Given the description of an element on the screen output the (x, y) to click on. 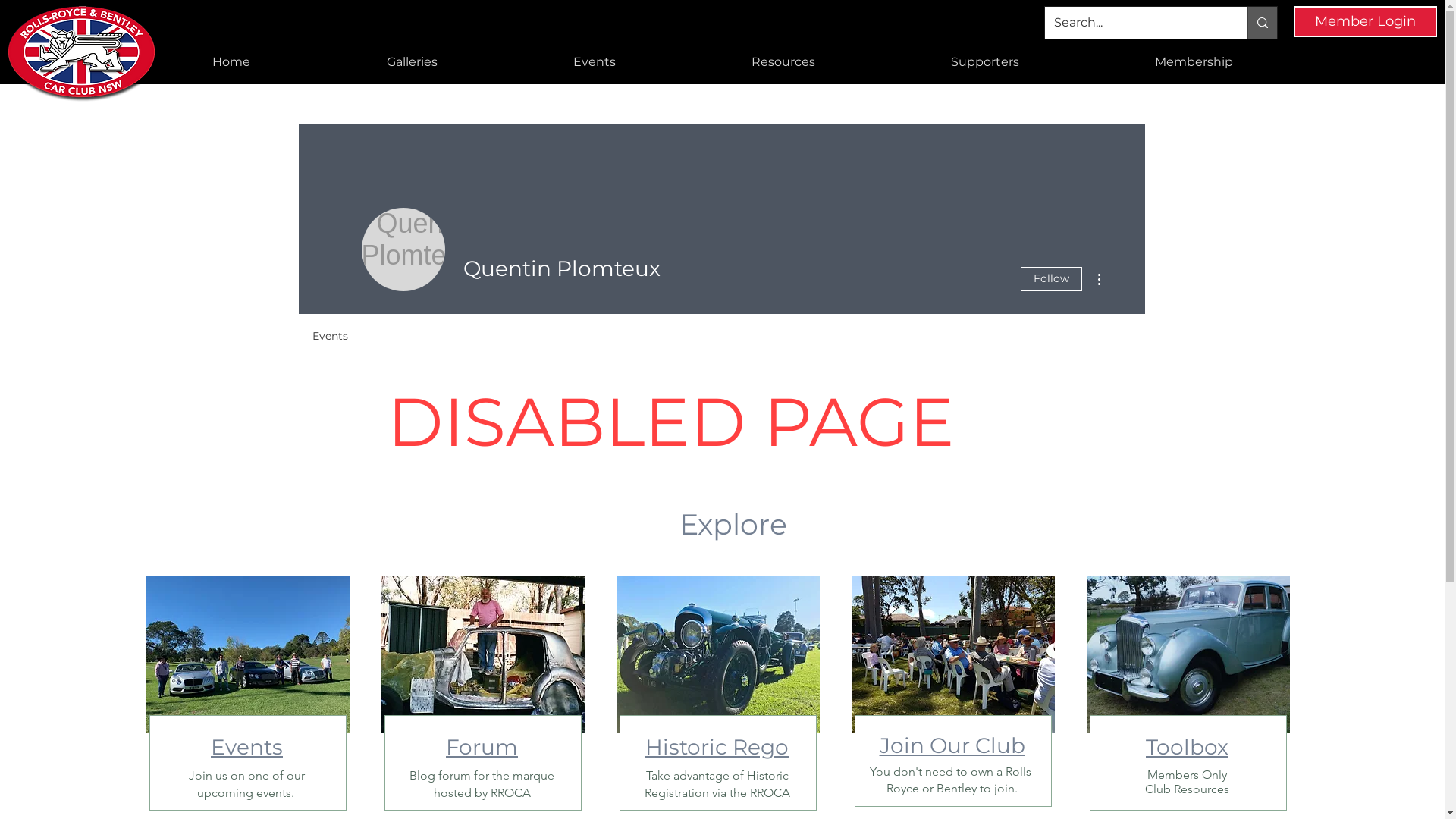
Join Our Club Element type: text (952, 745)
Forum Element type: text (481, 746)
Member Login Element type: text (1365, 21)
Events Element type: text (246, 746)
Quentin Plomteux Element type: hover (402, 249)
Home Element type: text (231, 61)
RR+Club+logo+Trans (400x519).png Element type: hover (83, 54)
Events Element type: text (329, 329)
Toolbox Element type: text (1186, 746)
Follow Element type: text (1051, 278)
Historic Rego Element type: text (716, 746)
